Given the description of an element on the screen output the (x, y) to click on. 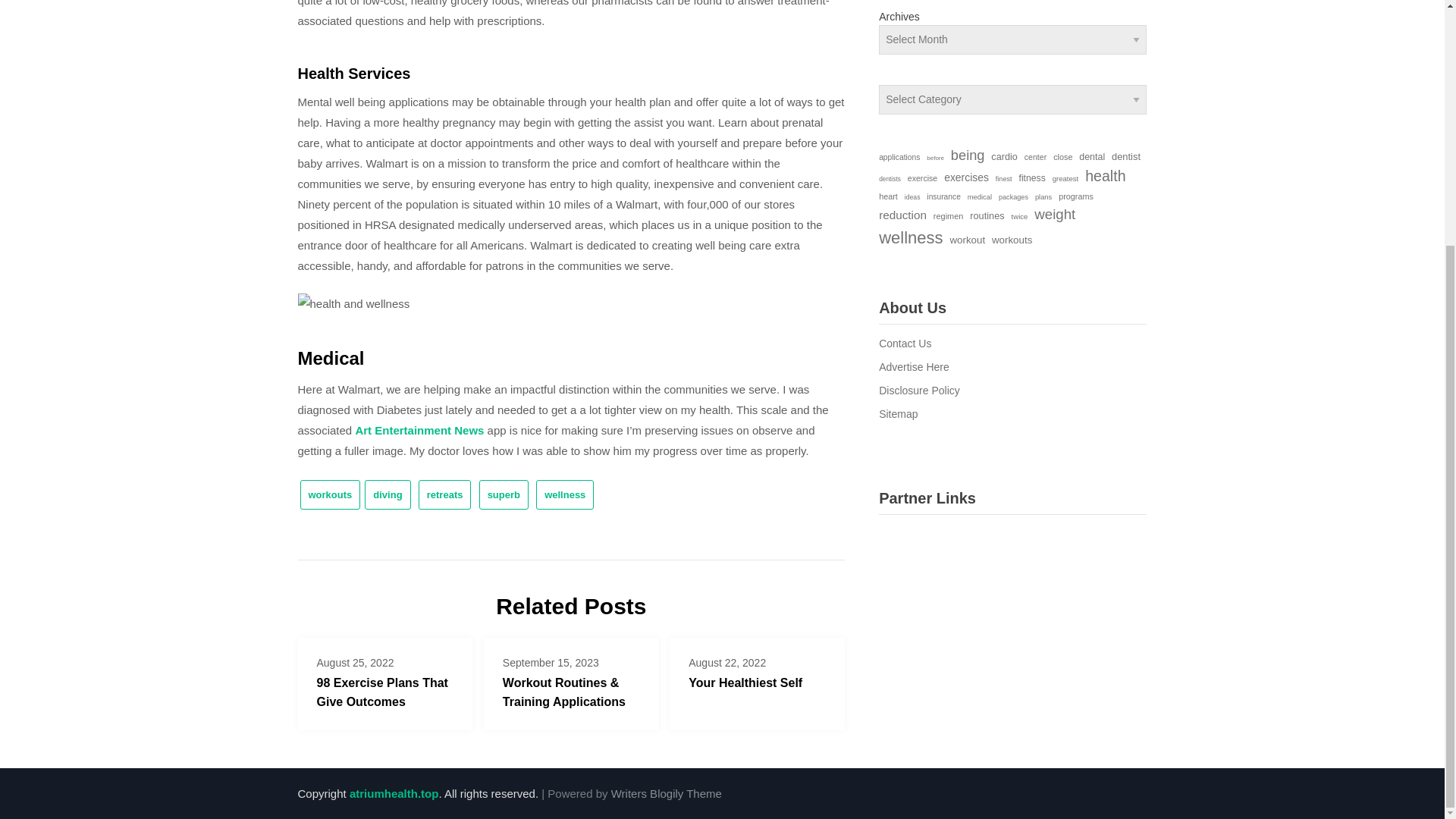
wellness (564, 494)
Art Entertainment News (419, 430)
retreats (445, 494)
diving (387, 494)
Your Healthiest Self (745, 682)
98 Exercise Plans That Give Outcomes (382, 692)
superb (503, 494)
workouts (330, 494)
